Given the description of an element on the screen output the (x, y) to click on. 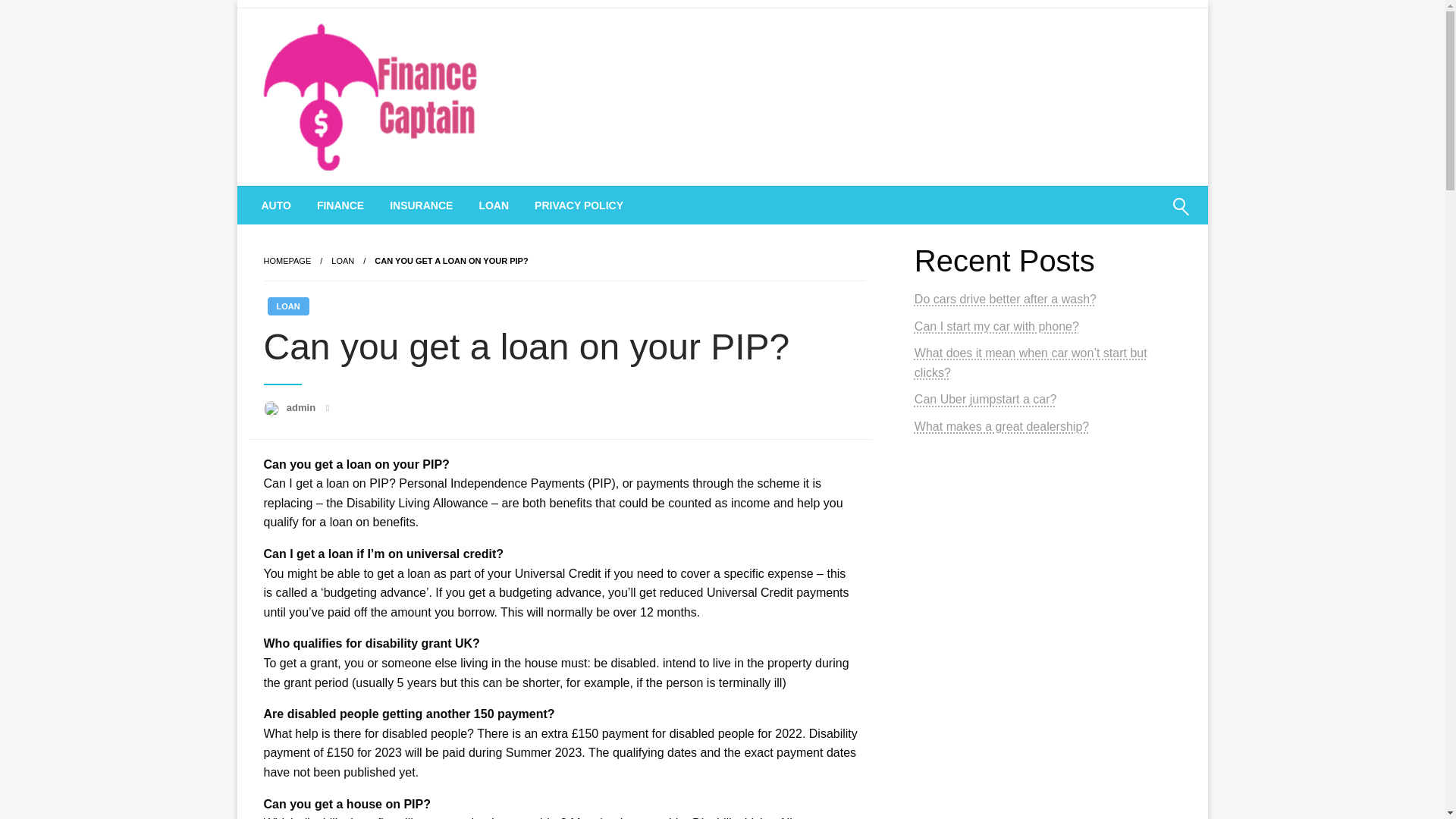
Search (1144, 216)
PRIVACY POLICY (578, 205)
finance captain (358, 205)
AUTO (276, 205)
FINANCE (340, 205)
Can you get a loan on your PIP? (450, 260)
HOMEPAGE (287, 260)
Can I start my car with phone? (996, 326)
admin (302, 407)
Can Uber jumpstart a car? (985, 399)
